Given the description of an element on the screen output the (x, y) to click on. 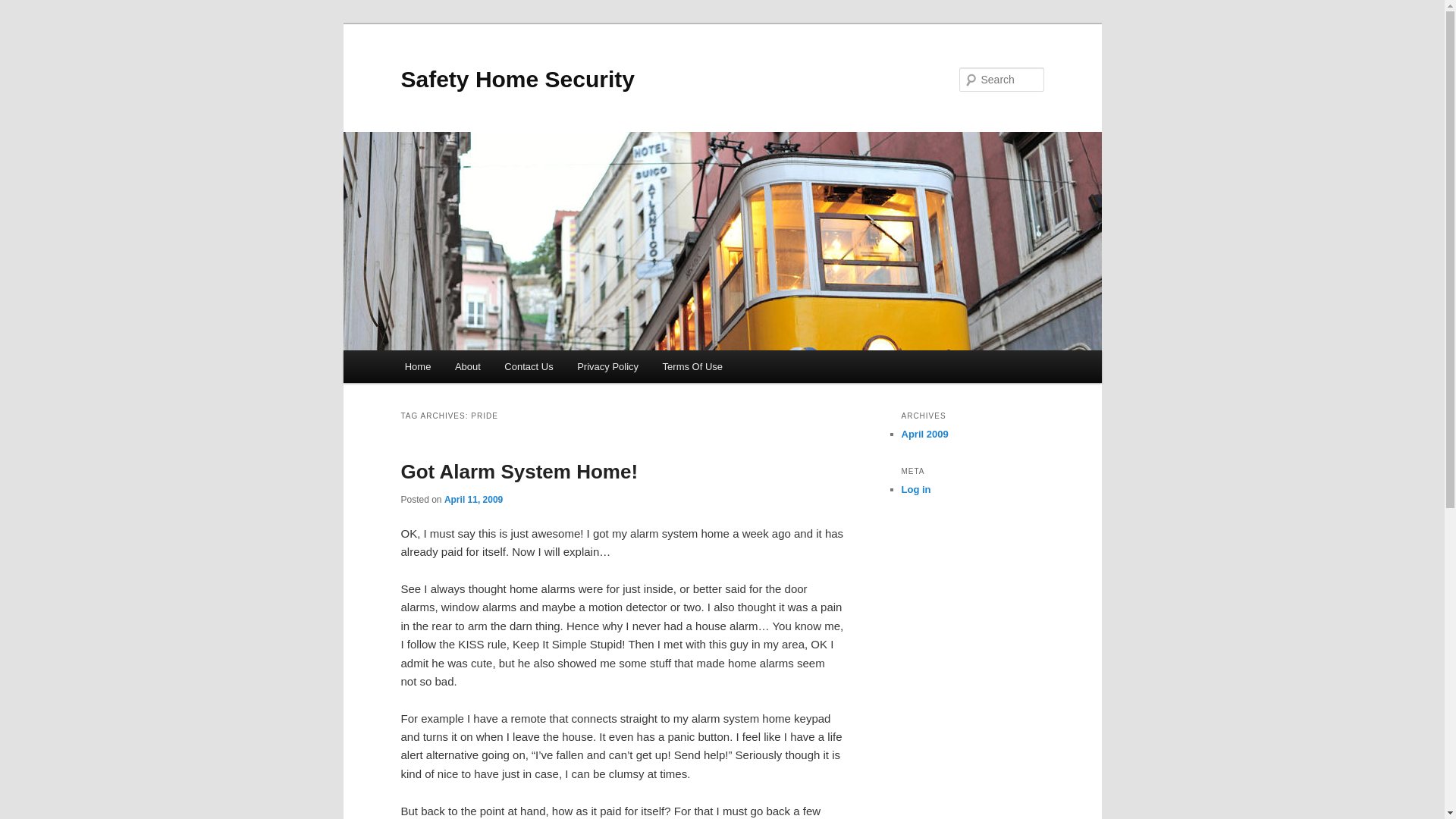
April 2009 (924, 433)
About (467, 366)
Safety Home Security (516, 78)
Home (417, 366)
Terms Of Use (692, 366)
Got Alarm System Home! (518, 471)
8:20 pm (473, 499)
April 11, 2009 (473, 499)
Privacy Policy (606, 366)
Contact Us (529, 366)
